Given the description of an element on the screen output the (x, y) to click on. 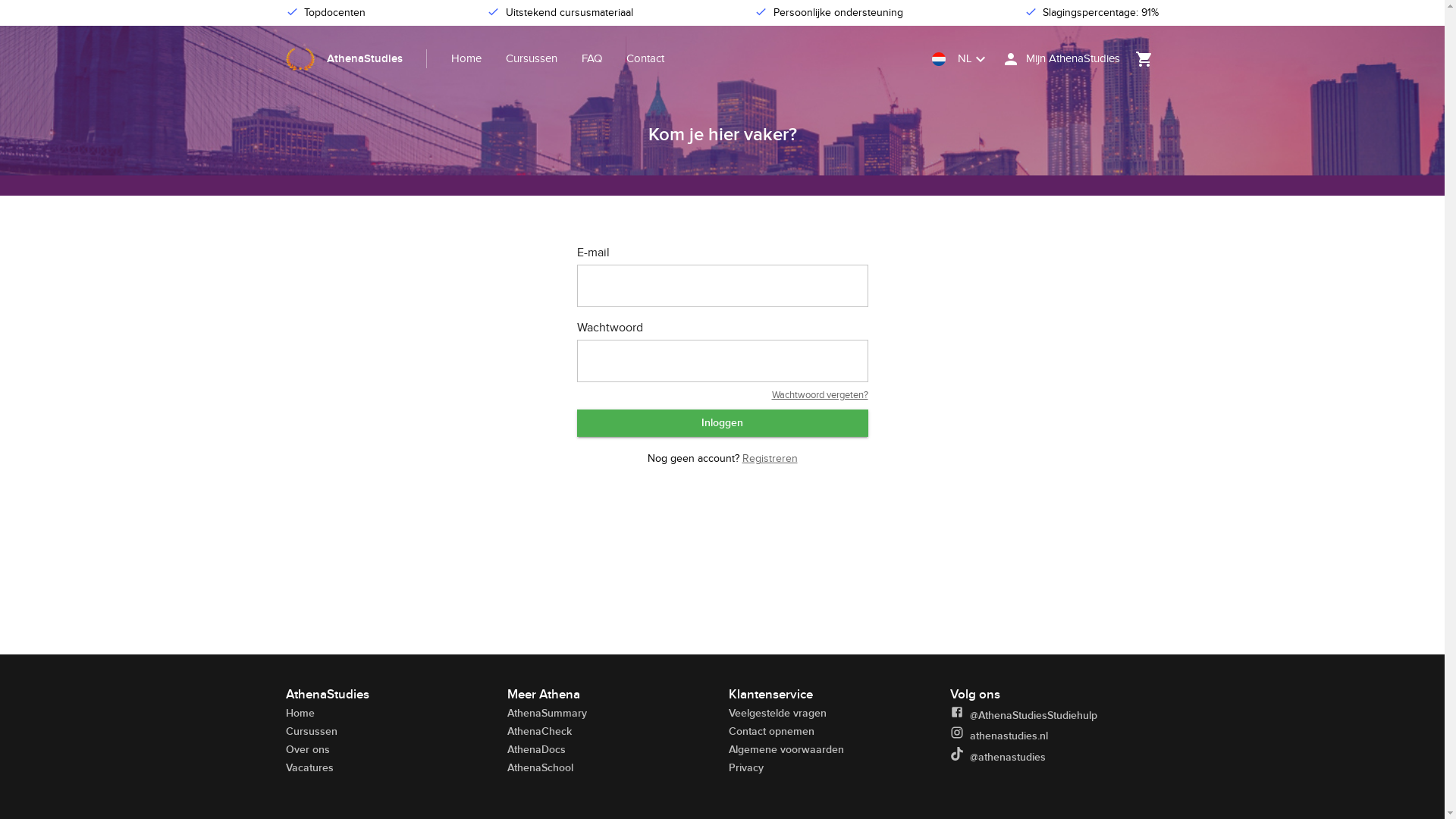
AthenaSummary Element type: text (546, 713)
Inloggen Element type: text (721, 423)
NL Element type: text (959, 58)
Wachtwoord vergeten? Element type: text (819, 395)
AthenaDocs Element type: text (535, 749)
Contact opnemen Element type: text (770, 731)
Over ons Element type: text (307, 749)
Algemene voorwaarden Element type: text (785, 749)
Cursussen Element type: text (310, 731)
Home Element type: text (299, 713)
athenastudies.nl Element type: text (1053, 735)
Cursussen Element type: text (531, 58)
FAQ Element type: text (591, 58)
AthenaSchool Element type: text (539, 767)
Vacatures Element type: text (308, 767)
@athenastudies Element type: text (1053, 756)
AthenaStudies Element type: text (355, 58)
Veelgestelde vragen Element type: text (776, 713)
Home Element type: text (466, 58)
AthenaCheck Element type: text (538, 731)
Registreren Element type: text (769, 458)
Privacy Element type: text (745, 767)
@AthenaStudiesStudiehulp Element type: text (1053, 714)
Contact Element type: text (645, 58)
Mijn AthenaStudies Element type: text (1059, 58)
